Given the description of an element on the screen output the (x, y) to click on. 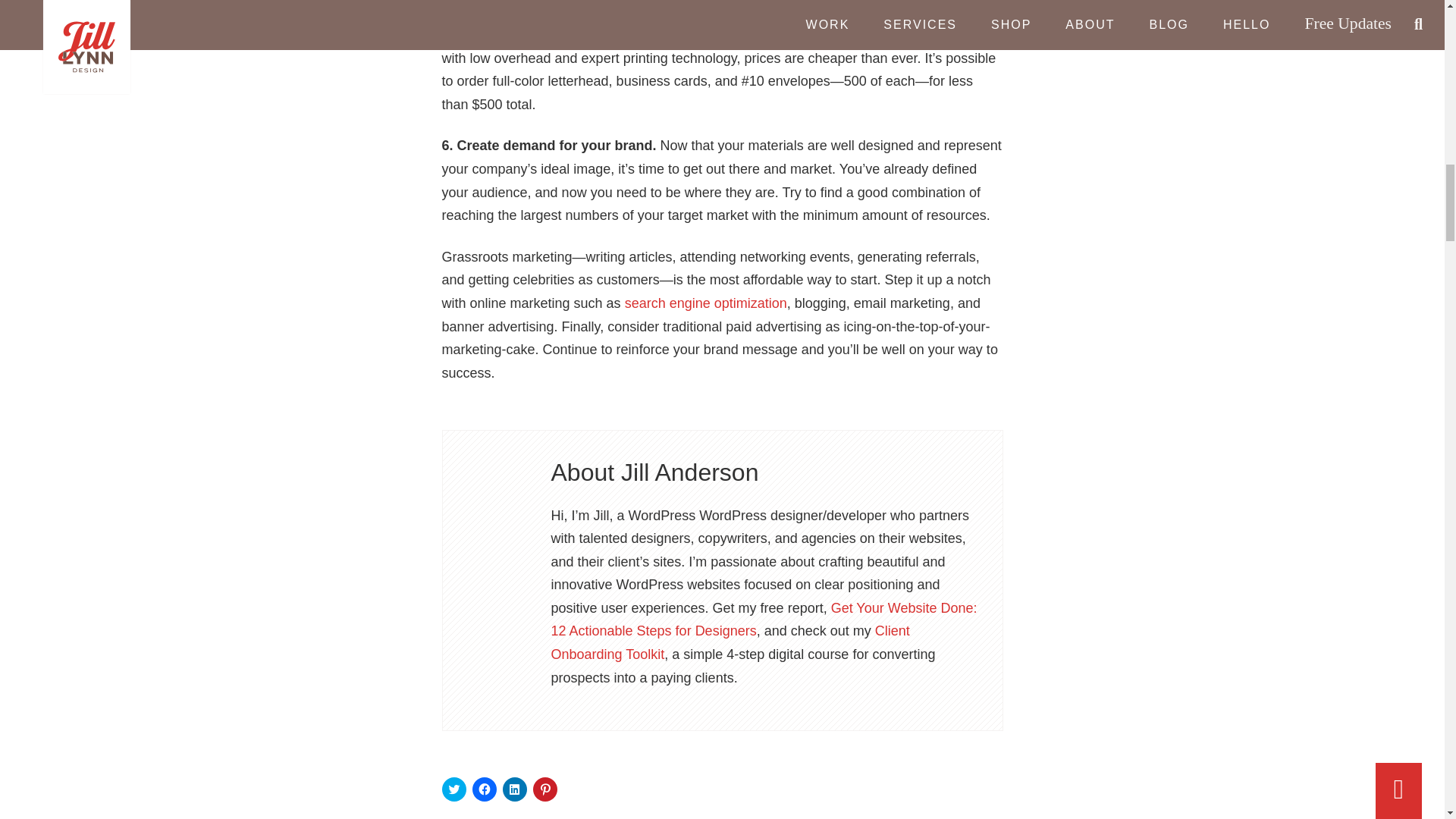
Client Onboarding Toolkit (729, 642)
Click to share on Facebook (483, 789)
Click to share on LinkedIn (513, 789)
Get Your Website Done: 12 Actionable Steps for Designers (763, 619)
search engine optimization (705, 303)
Click to share on Twitter (453, 789)
Click to share on Pinterest (544, 789)
